Given the description of an element on the screen output the (x, y) to click on. 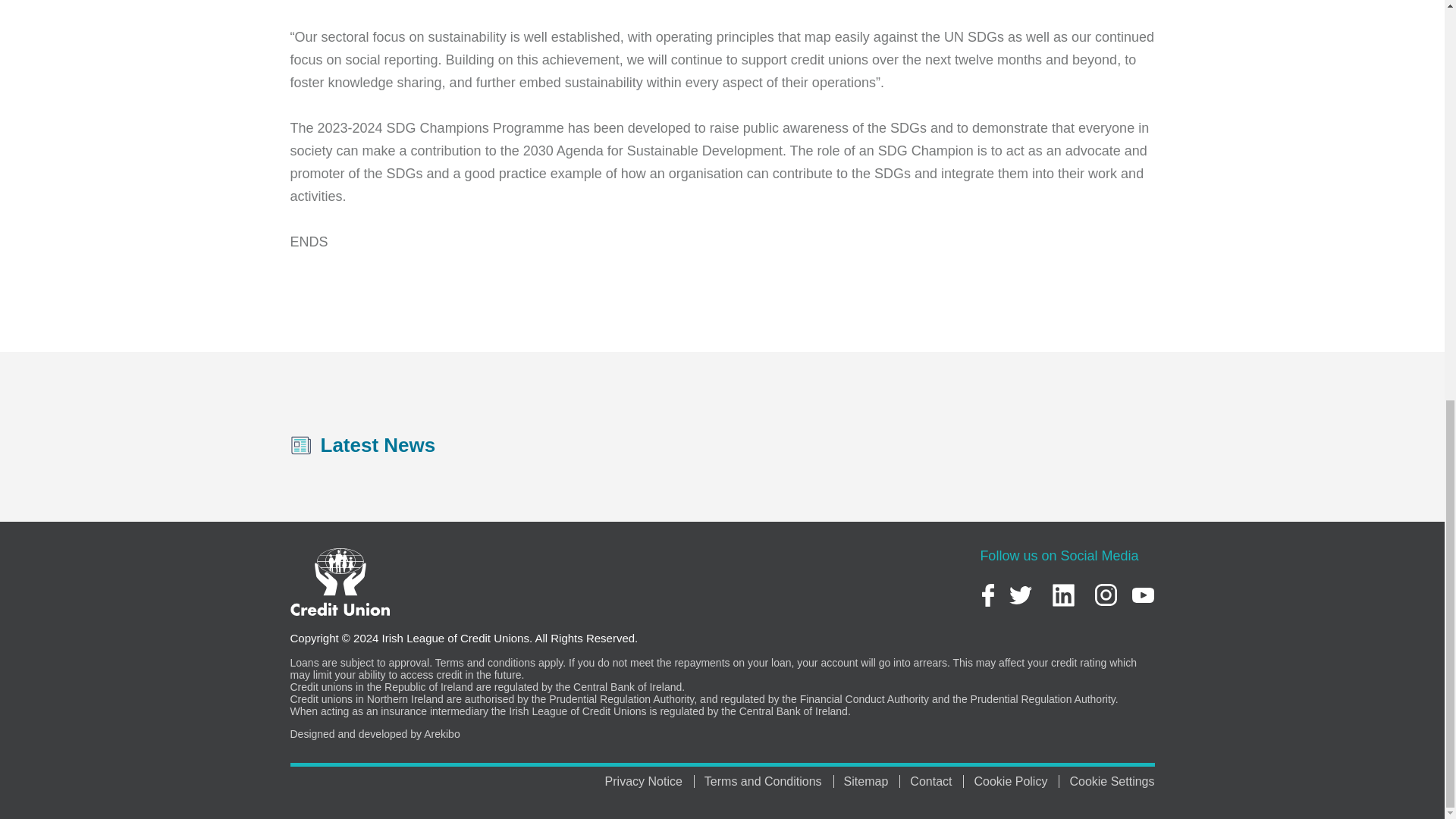
Sitemap (872, 780)
Cookie Policy (1016, 780)
Privacy Notice (649, 780)
Contact (936, 780)
Terms and Conditions (769, 780)
